Given the description of an element on the screen output the (x, y) to click on. 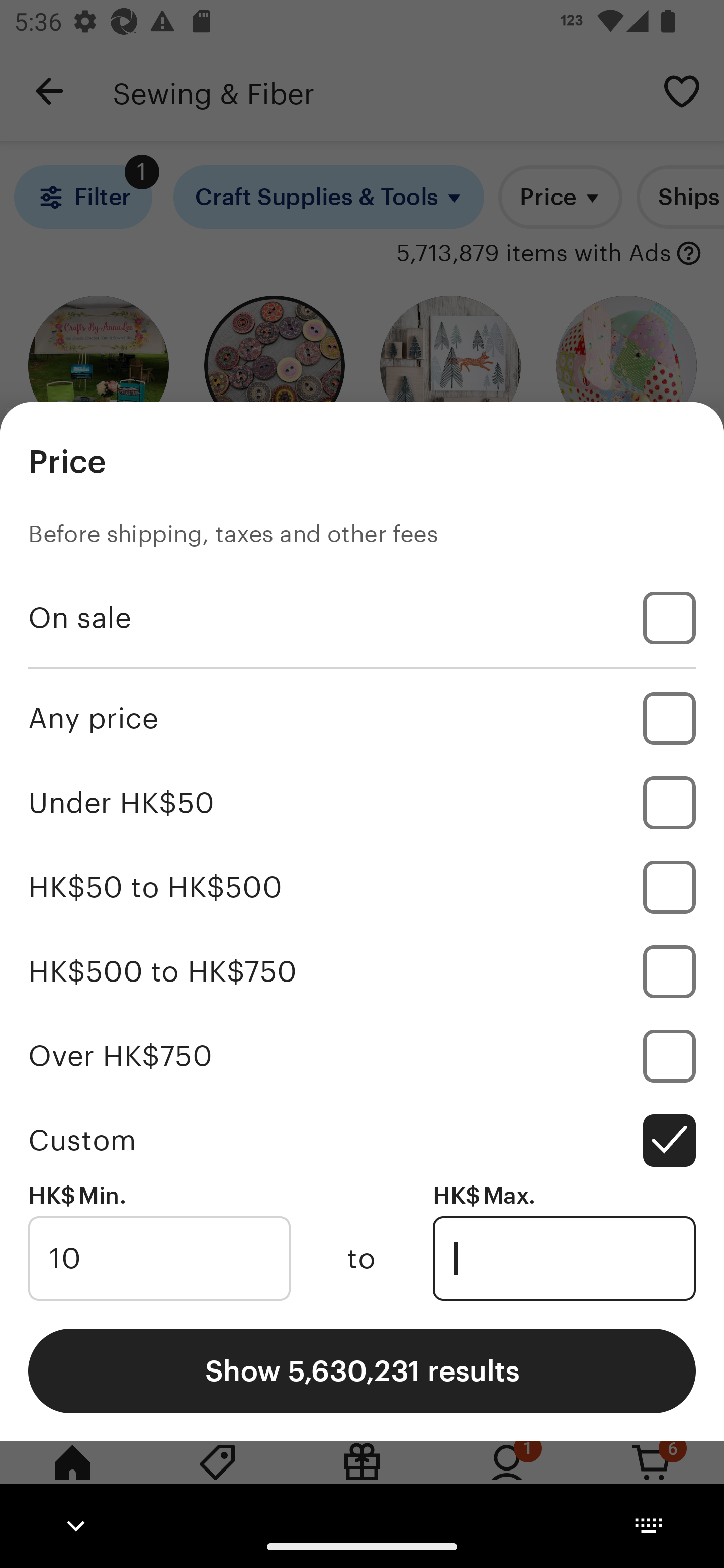
On sale (362, 617)
Any price (362, 717)
Under HK$50 (362, 802)
HK$50 to HK$500 (362, 887)
HK$500 to HK$750 (362, 970)
Over HK$750 (362, 1054)
Custom (362, 1139)
10 (159, 1257)
Show 5,630,231 results (361, 1370)
